Given the description of an element on the screen output the (x, y) to click on. 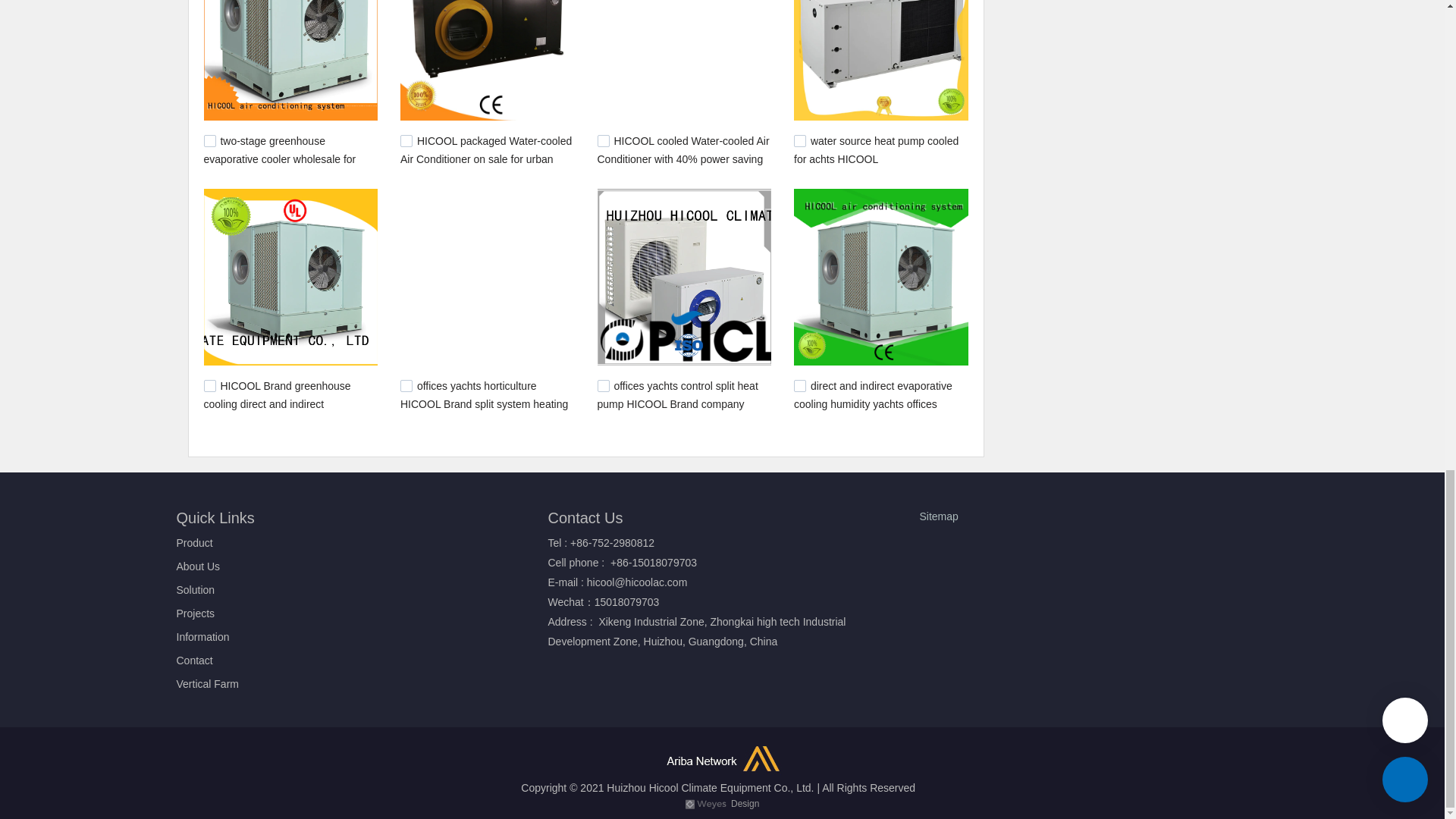
642 (799, 386)
2119 (799, 141)
680 (406, 386)
water source heat pump cooled for achts HICOOL (875, 150)
5562 (406, 141)
3745 (603, 141)
5564 (209, 141)
offices yachts control split heat pump HICOOL Brand company (677, 395)
